Given the description of an element on the screen output the (x, y) to click on. 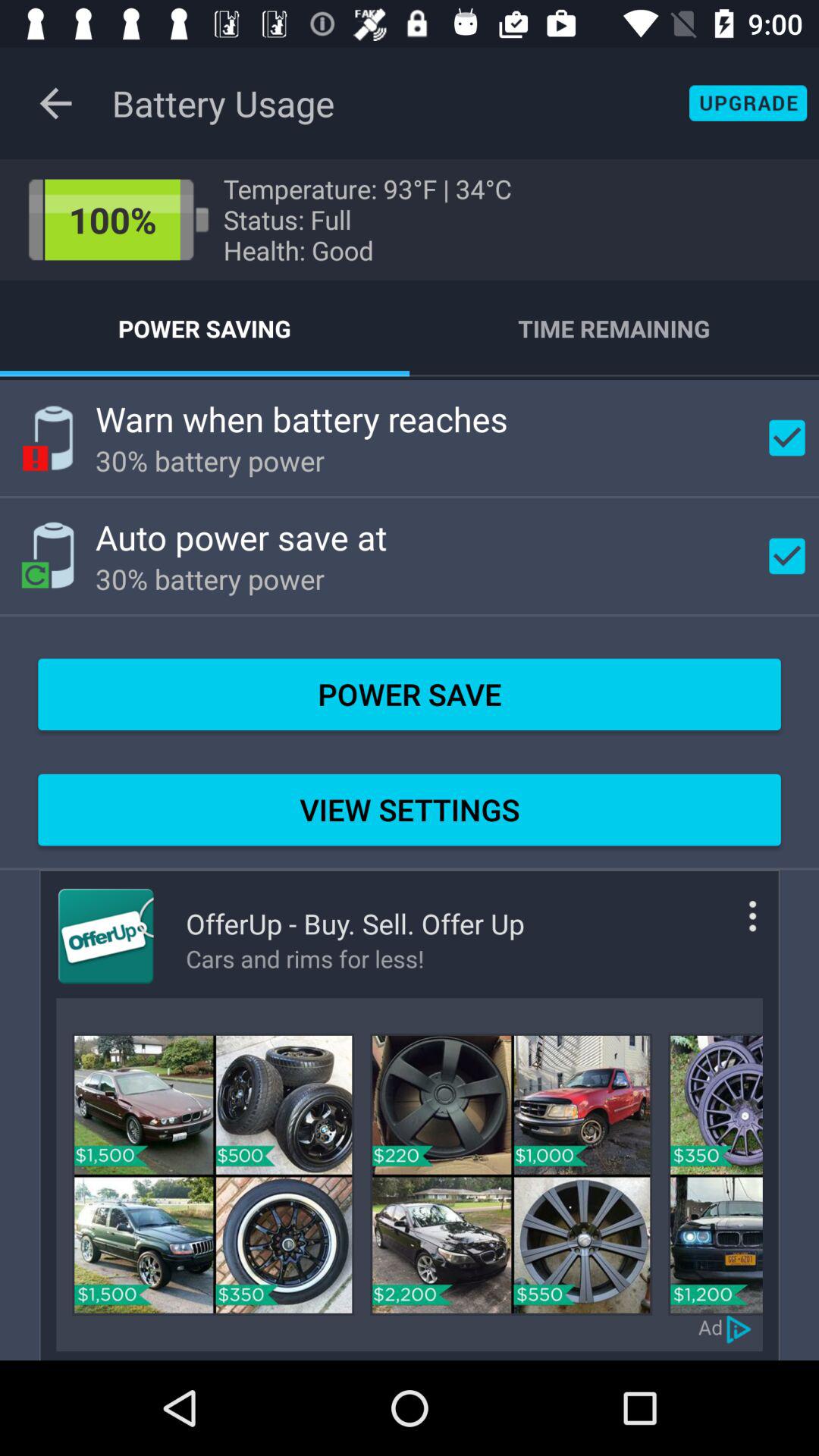
swipe to cars and rims icon (354, 958)
